Given the description of an element on the screen output the (x, y) to click on. 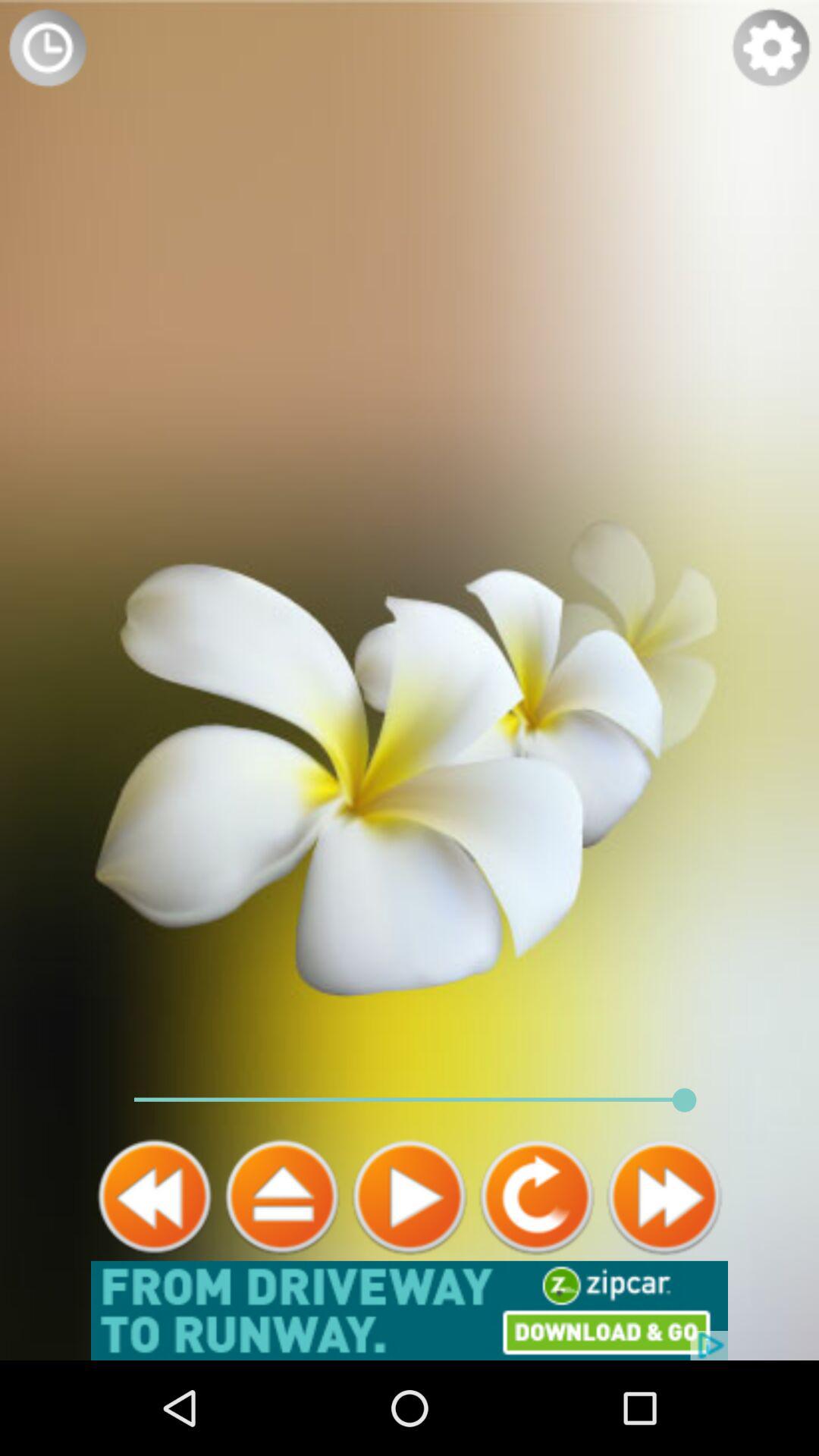
refresh button (536, 1196)
